Given the description of an element on the screen output the (x, y) to click on. 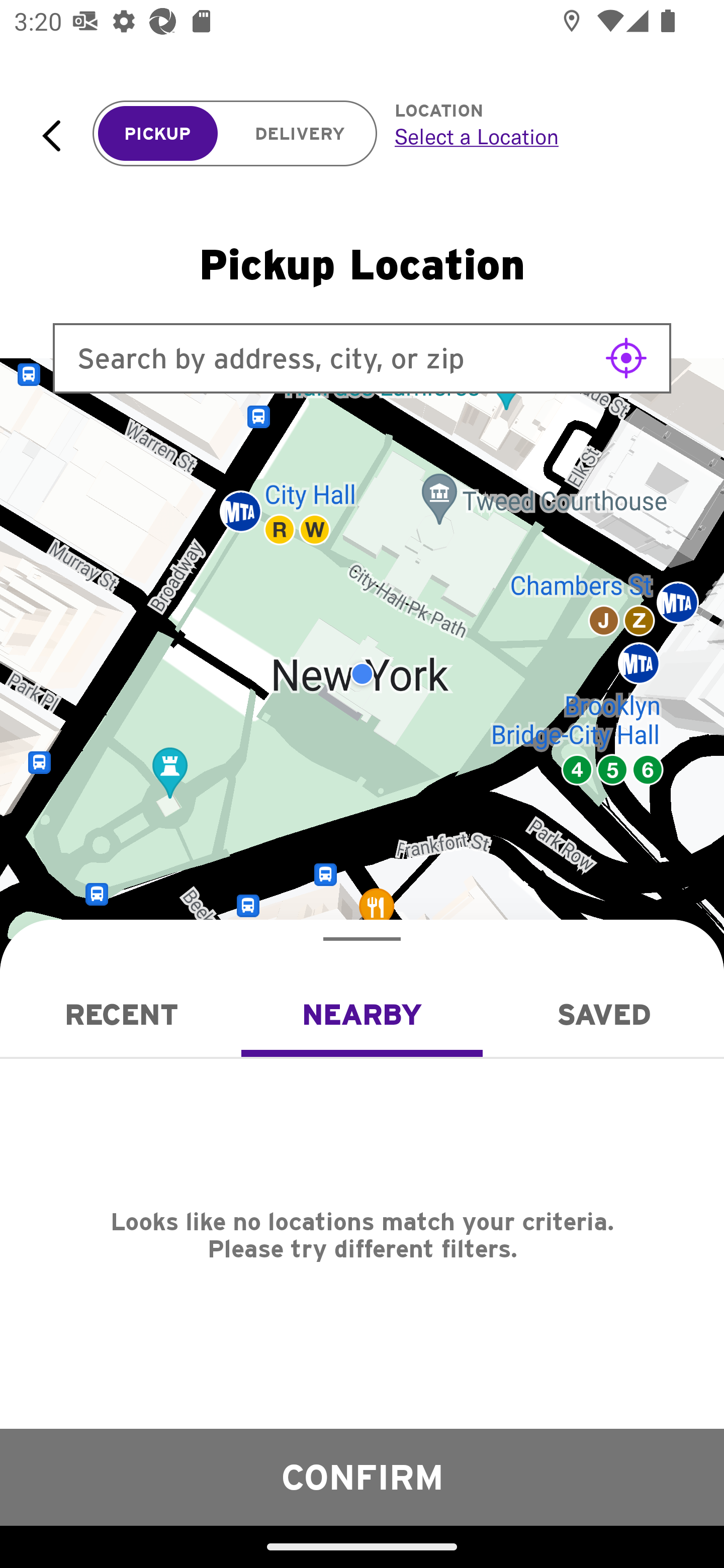
PICKUP (157, 133)
DELIVERY (299, 133)
Select a Location (536, 136)
Search by address, city, or zip (361, 358)
Google Map (362, 674)
Recent RECENT (120, 1014)
Saved SAVED (603, 1014)
CONFIRM (362, 1476)
